Given the description of an element on the screen output the (x, y) to click on. 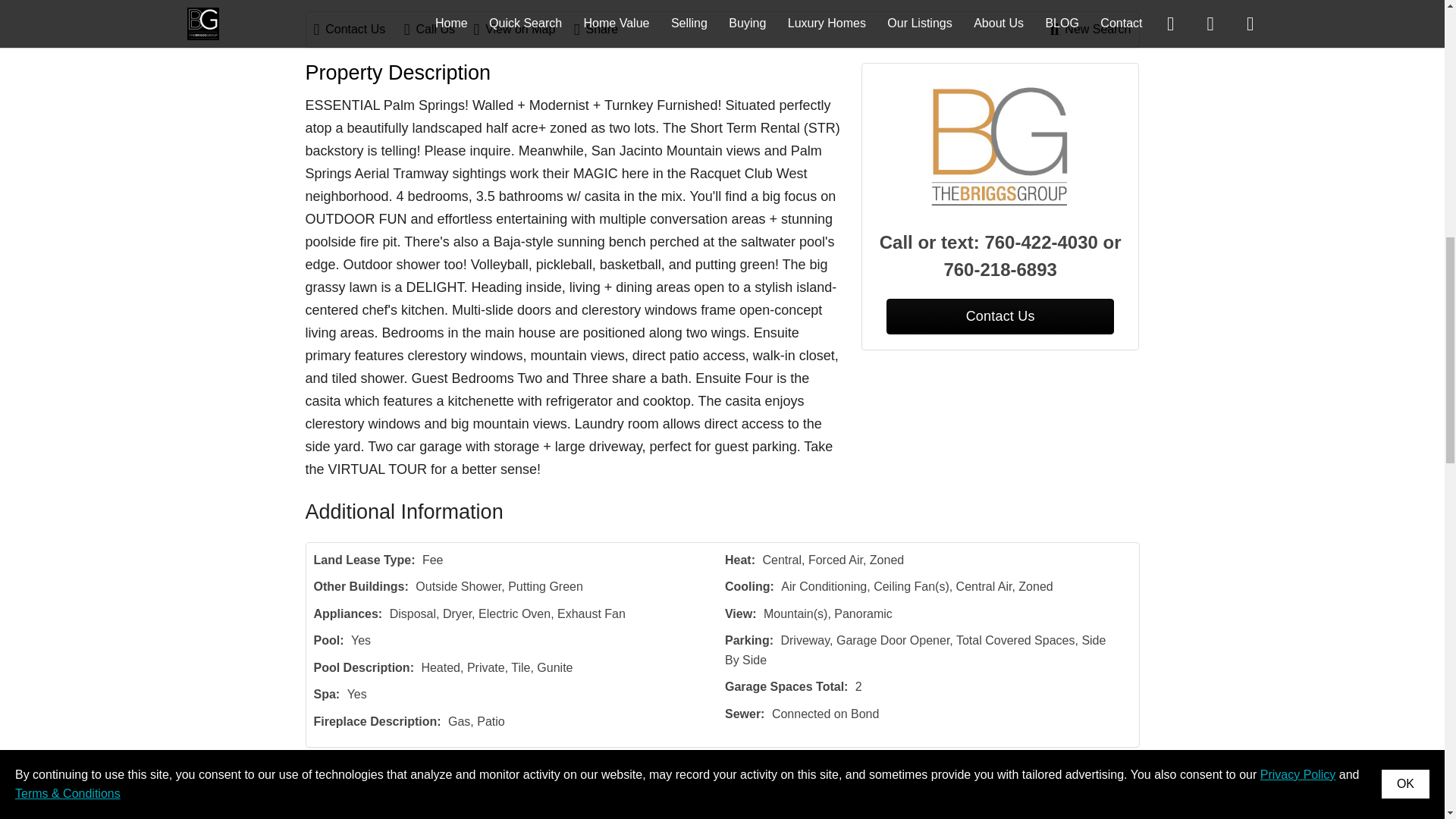
View on Map (521, 29)
New Search (1090, 29)
Share (603, 29)
Contact Us (357, 29)
Call Us (437, 29)
